Given the description of an element on the screen output the (x, y) to click on. 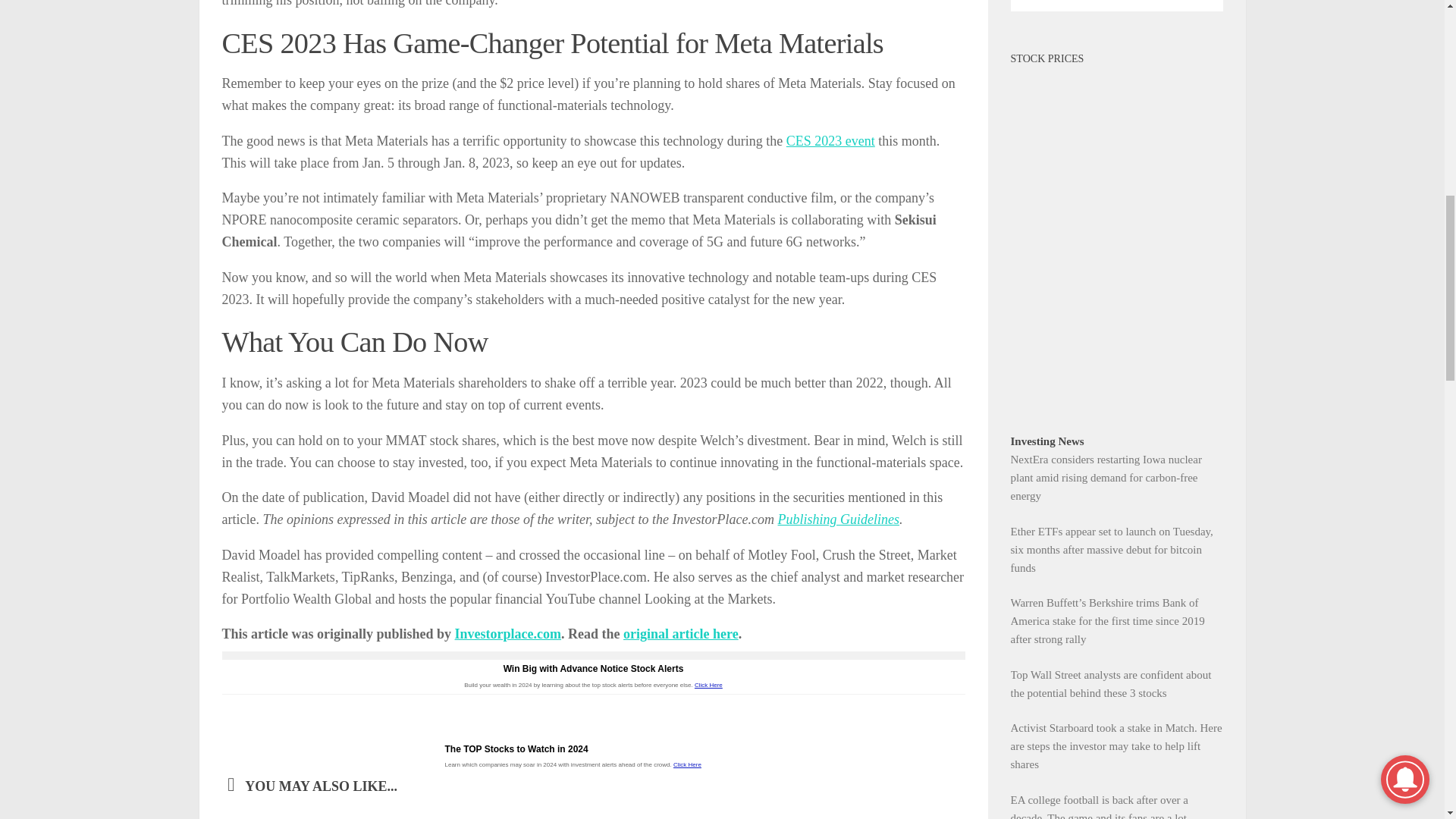
CES 2023 event (830, 140)
Publishing Guidelines (838, 519)
